Given the description of an element on the screen output the (x, y) to click on. 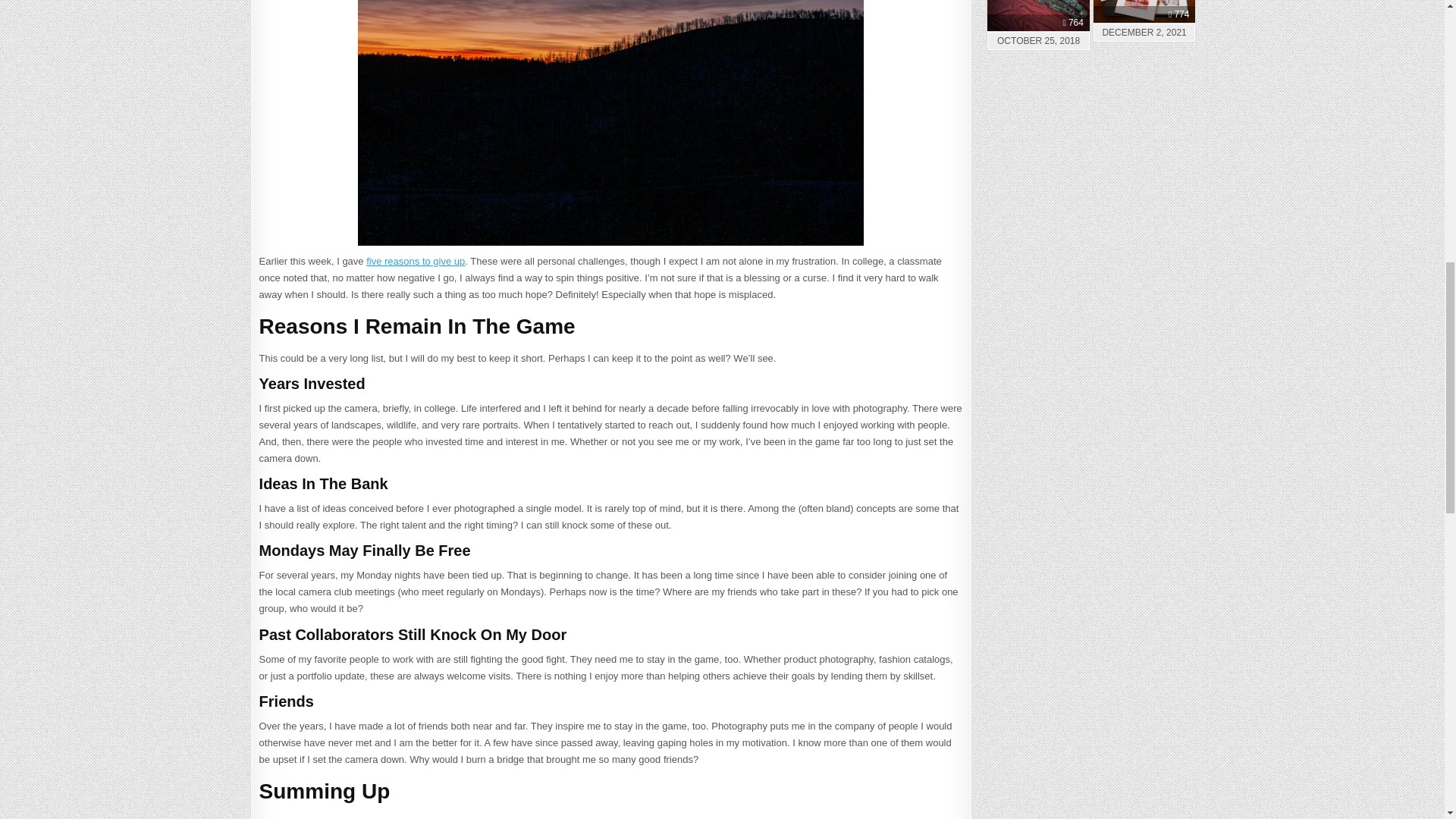
five reasons to give up (415, 260)
Five Reasons to Stay In The Game (610, 122)
